Given the description of an element on the screen output the (x, y) to click on. 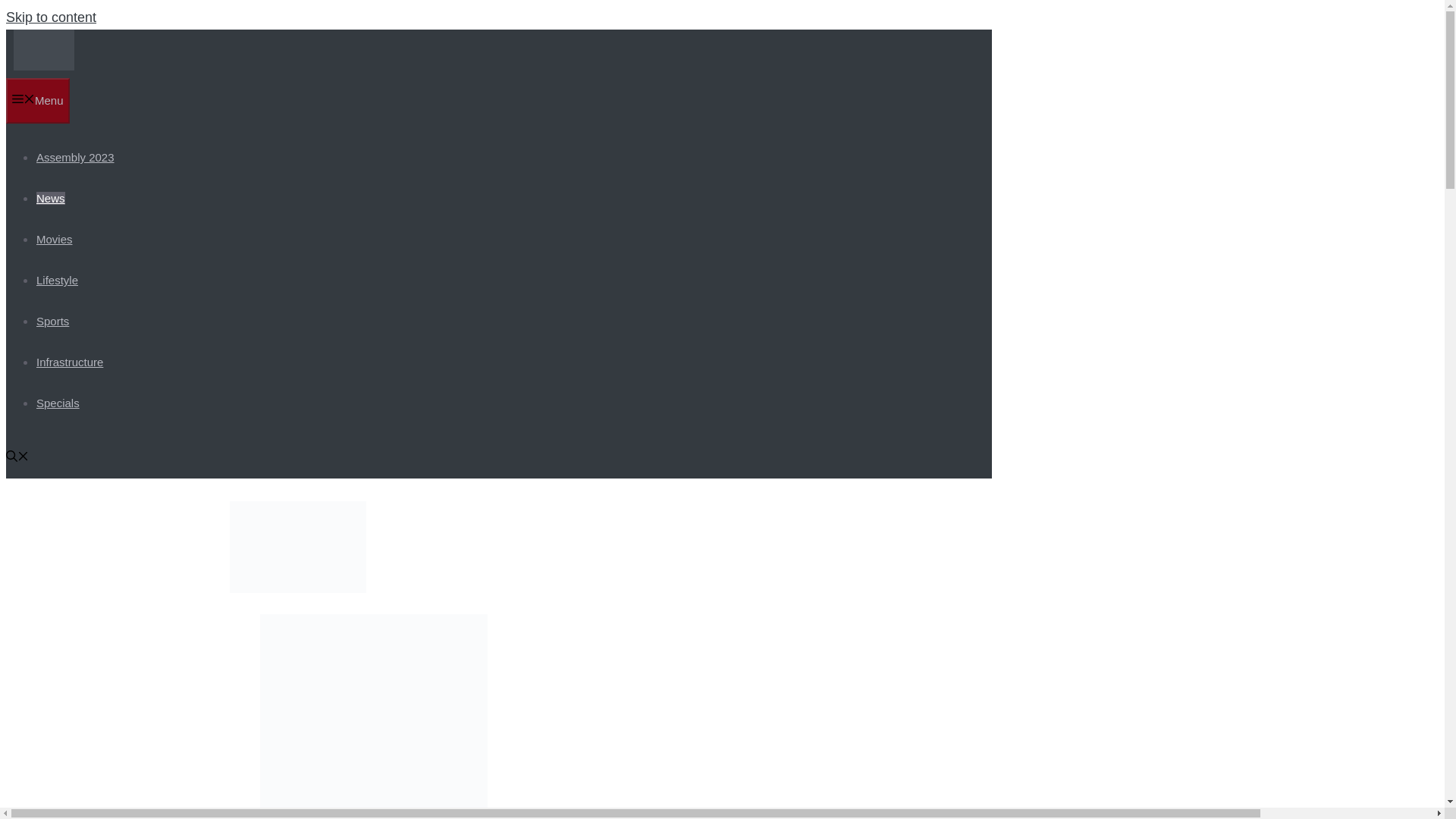
Movies (54, 238)
Sports (52, 320)
Skip to content (50, 17)
All About Belgaum (43, 65)
Skip to content (50, 17)
Assembly 2023 (75, 156)
News (50, 197)
All About Belgaum (43, 49)
Infrastructure (69, 361)
Lifestyle (57, 279)
Menu (37, 100)
Specials (58, 402)
